Given the description of an element on the screen output the (x, y) to click on. 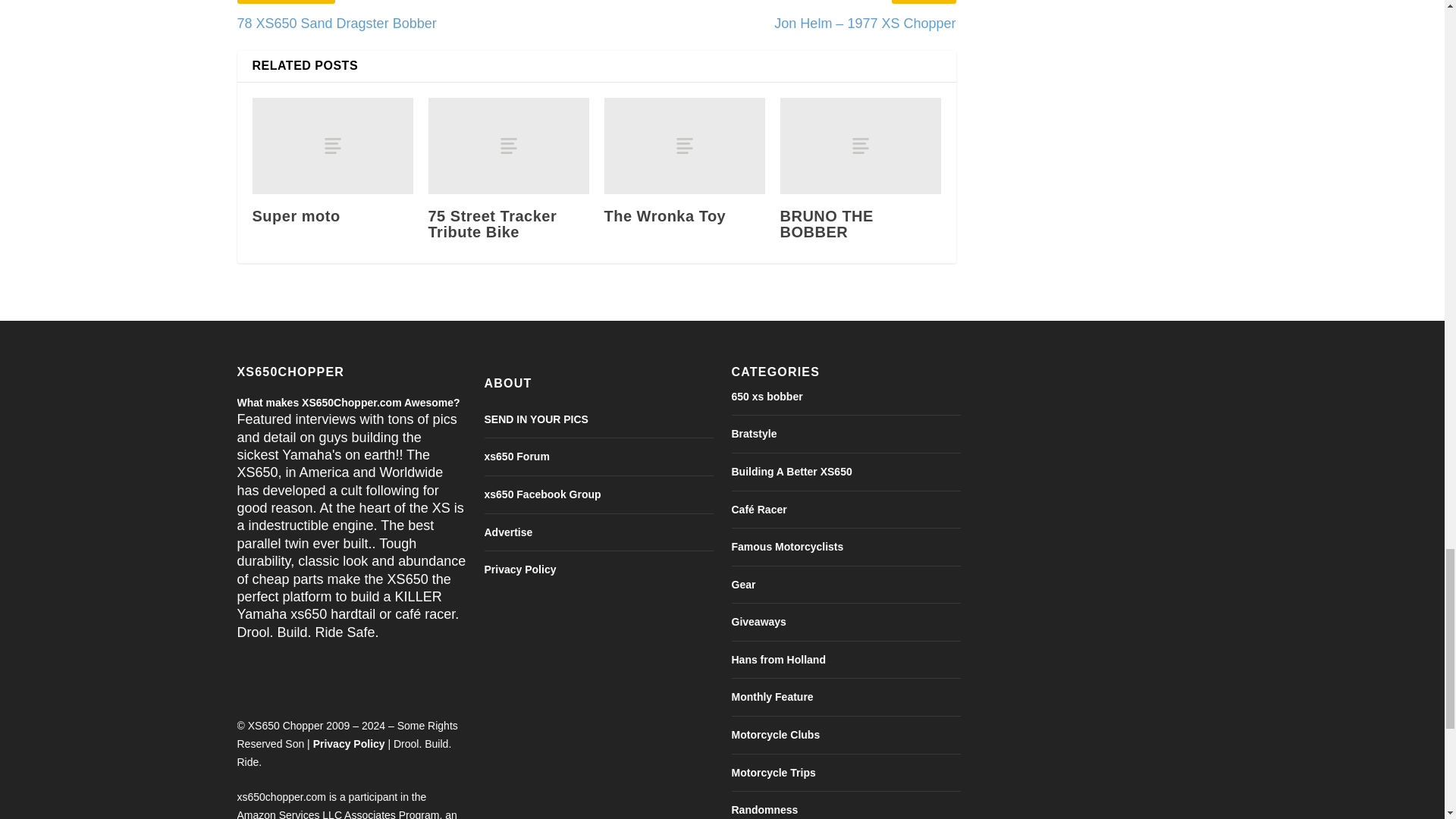
75 Street Tracker Tribute Bike (508, 145)
The Wronka Toy (684, 145)
BRUNO THE BOBBER (859, 145)
Super moto (331, 145)
